Given the description of an element on the screen output the (x, y) to click on. 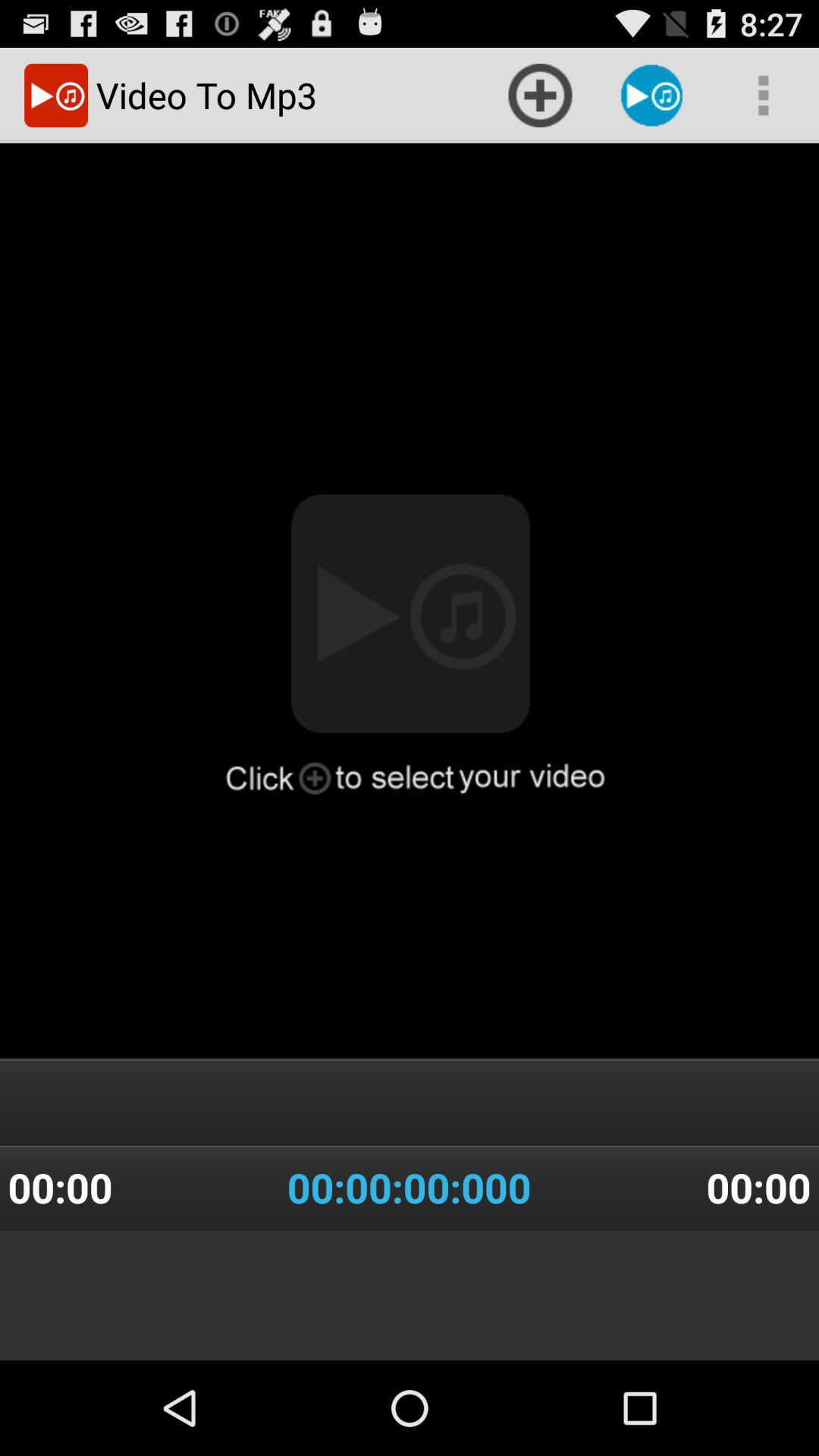
press the item above the 00 00 00 item (408, 686)
